Given the description of an element on the screen output the (x, y) to click on. 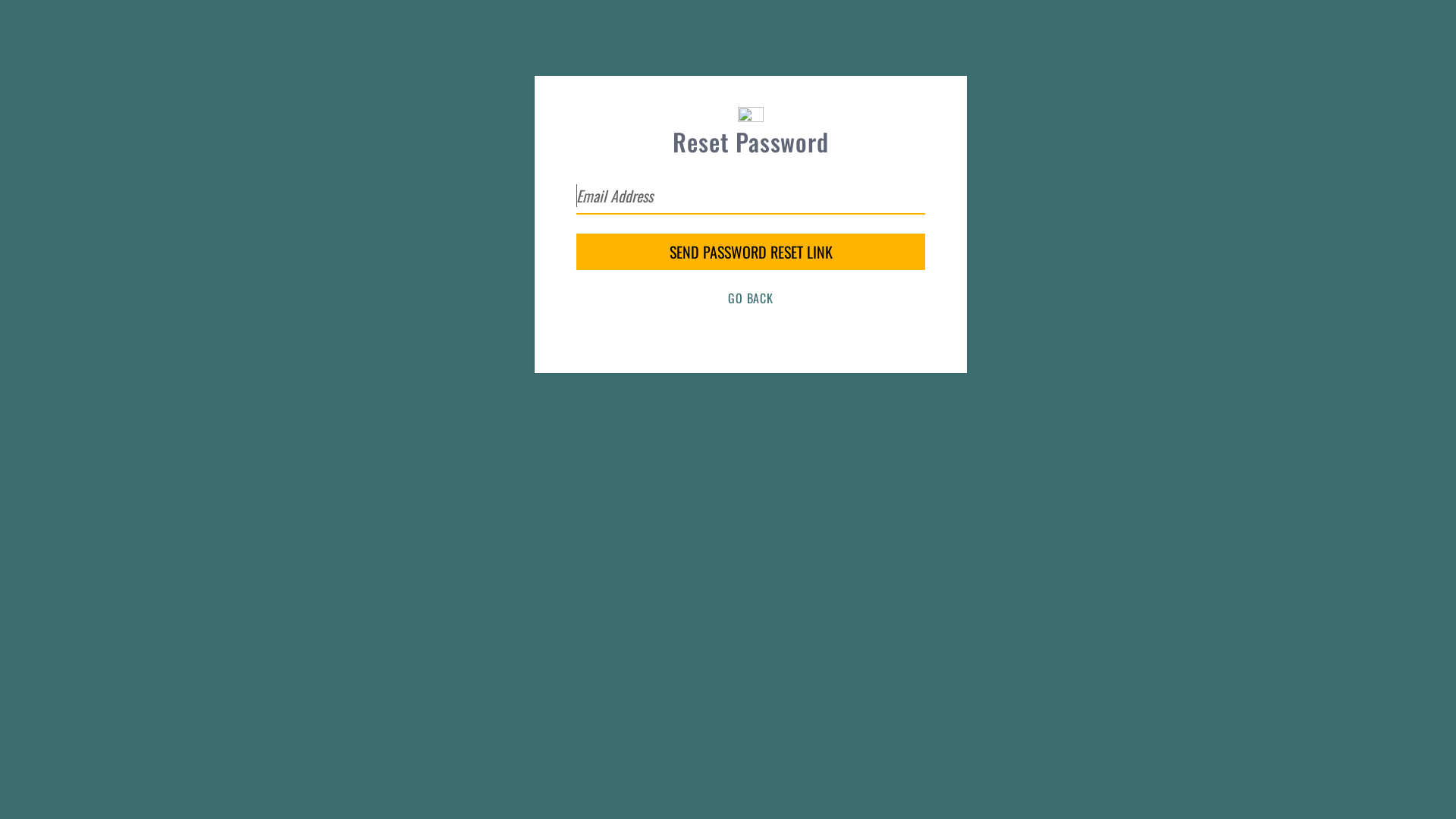
GO BACK Element type: text (750, 297)
SEND PASSWORD RESET LINK Element type: text (750, 251)
